Given the description of an element on the screen output the (x, y) to click on. 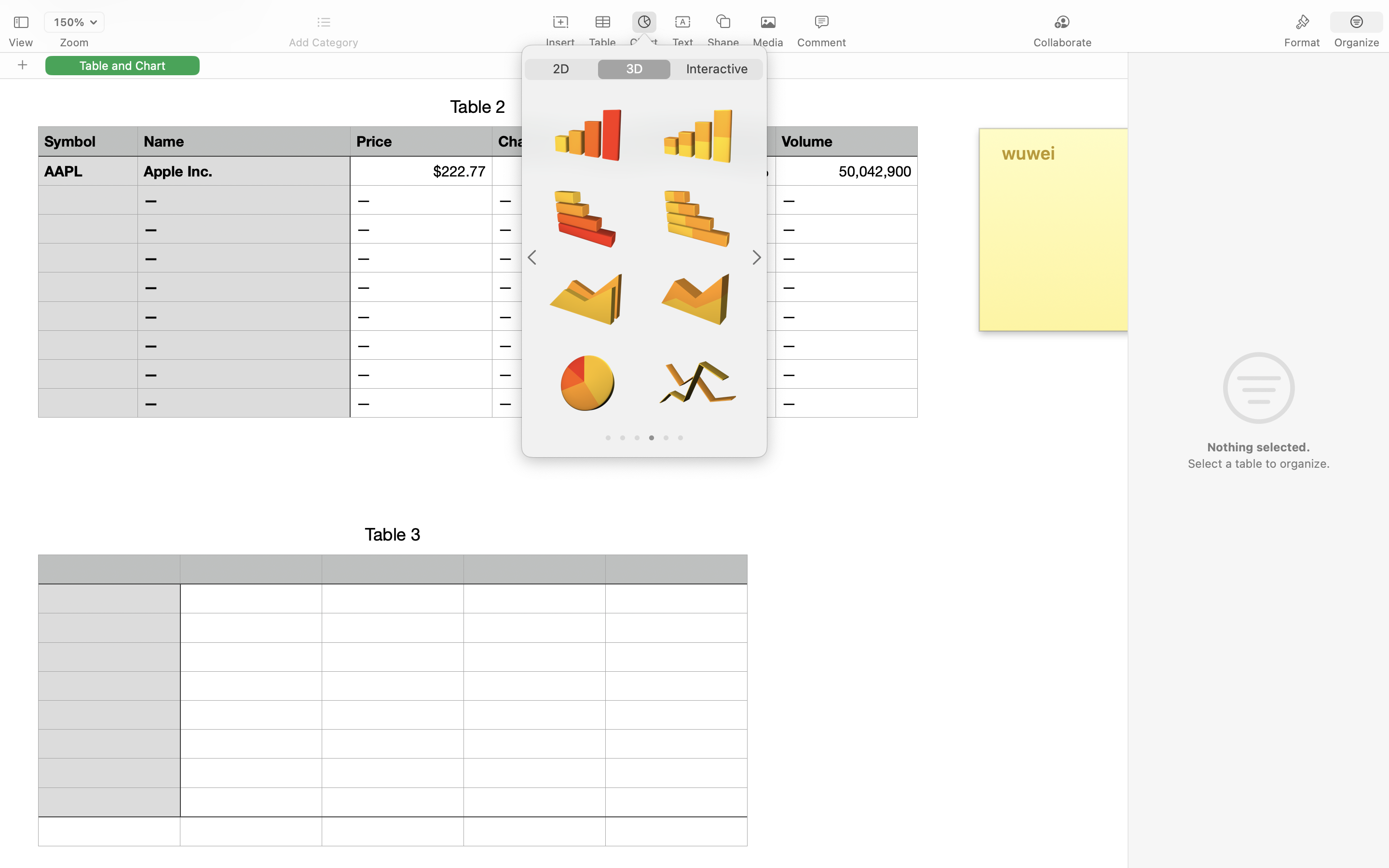
Add Category Element type: AXStaticText (322, 42)
Organize Element type: AXStaticText (1356, 42)
Table and Chart Element type: AXStaticText (122, 64)
View Element type: AXStaticText (20, 42)
Nothing selected. Element type: AXStaticText (1257, 446)
